Given the description of an element on the screen output the (x, y) to click on. 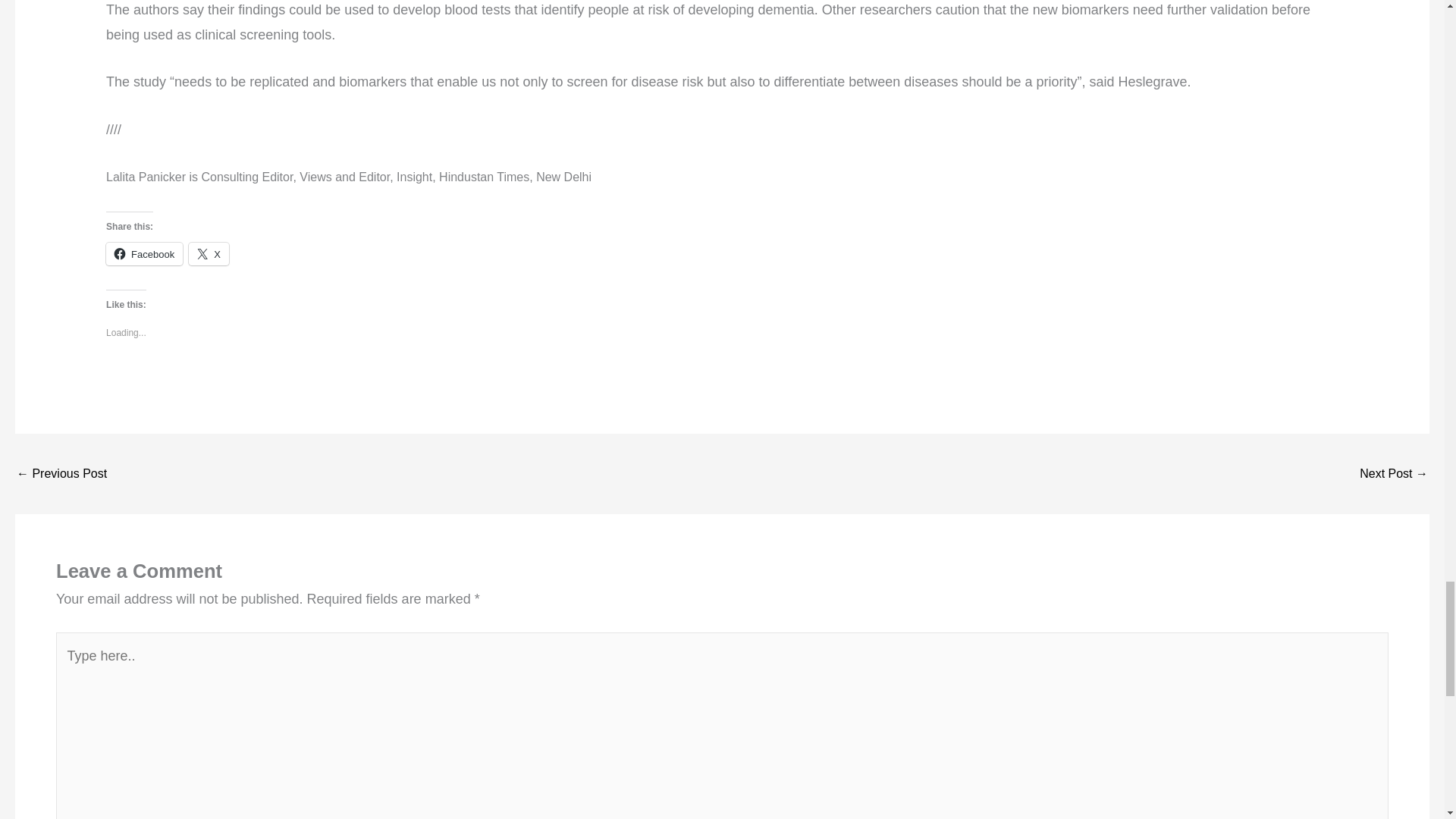
Click to share on X (208, 253)
Click to share on Facebook (144, 253)
